Given the description of an element on the screen output the (x, y) to click on. 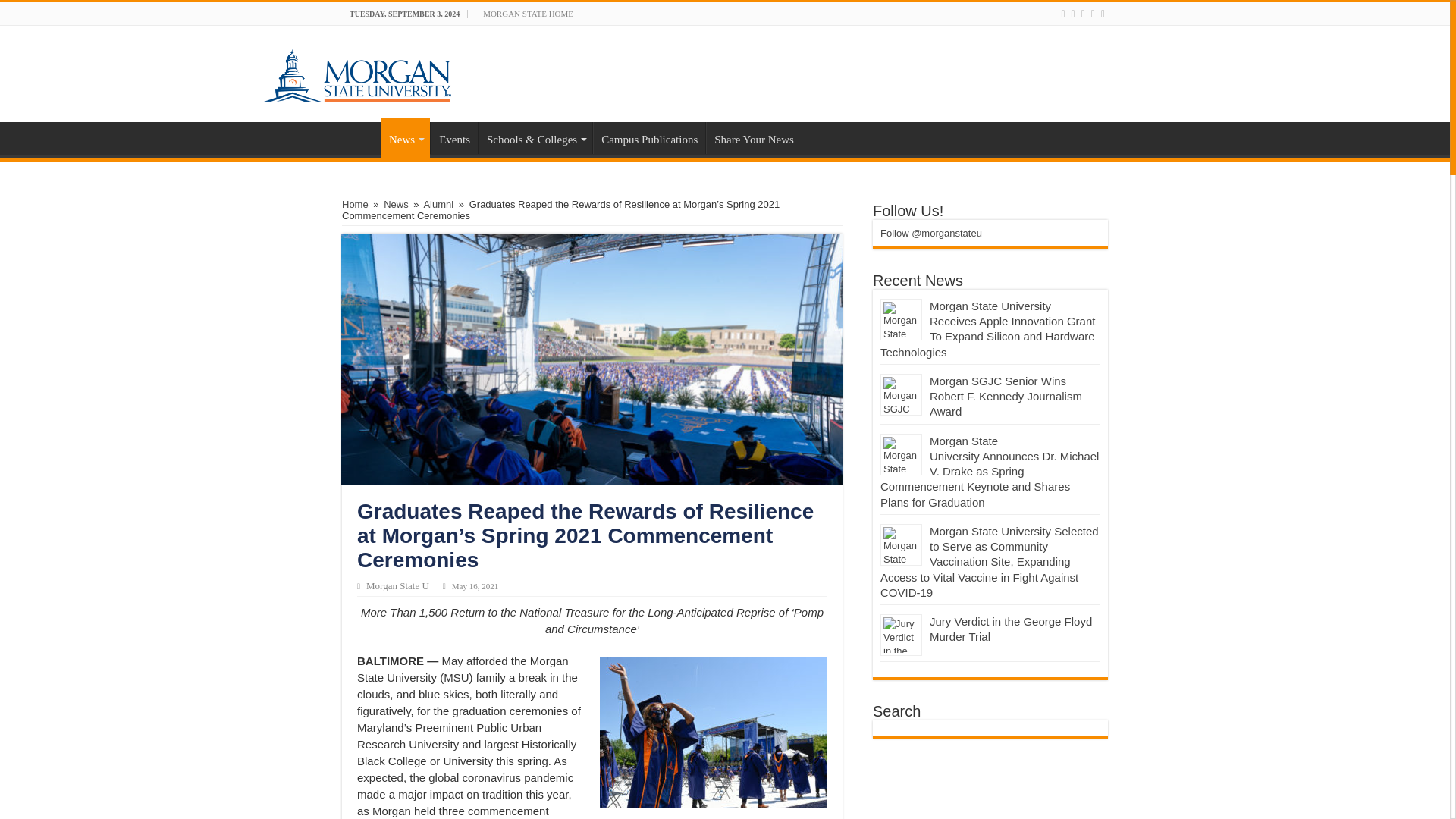
Home (361, 137)
Morgan State University Newsroom (356, 71)
MORGAN STATE HOME (528, 13)
News (405, 137)
